Given the description of an element on the screen output the (x, y) to click on. 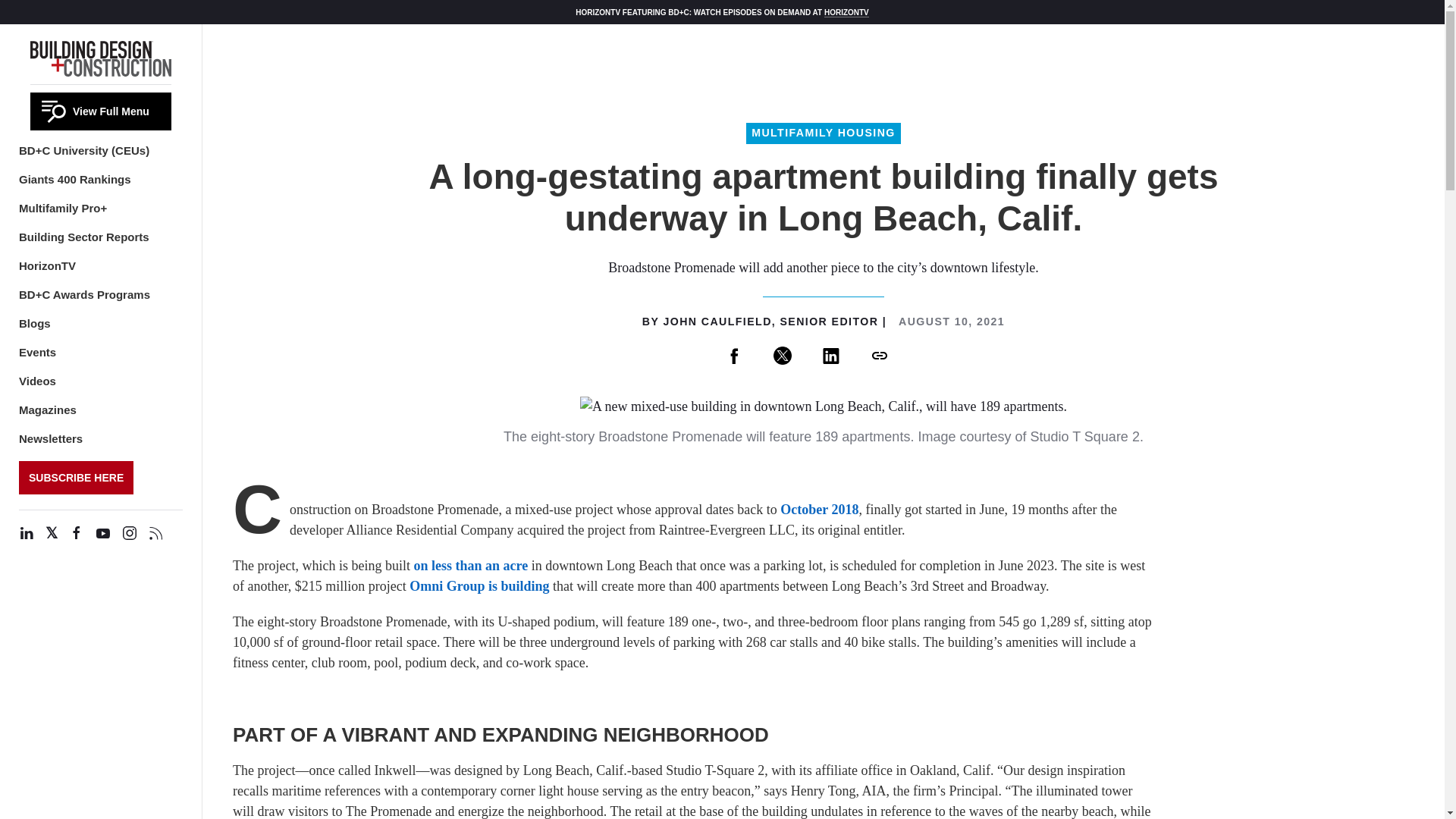
Blogs (34, 323)
Newsletters (50, 438)
Giants 400 Rankings (74, 178)
Home (100, 56)
MULTIFAMILY HOUSING (822, 133)
HorizonTV (46, 265)
Videos (37, 380)
View Full Menu (100, 111)
on less than an acre (470, 565)
Omni Group is building (478, 585)
